Given the description of an element on the screen output the (x, y) to click on. 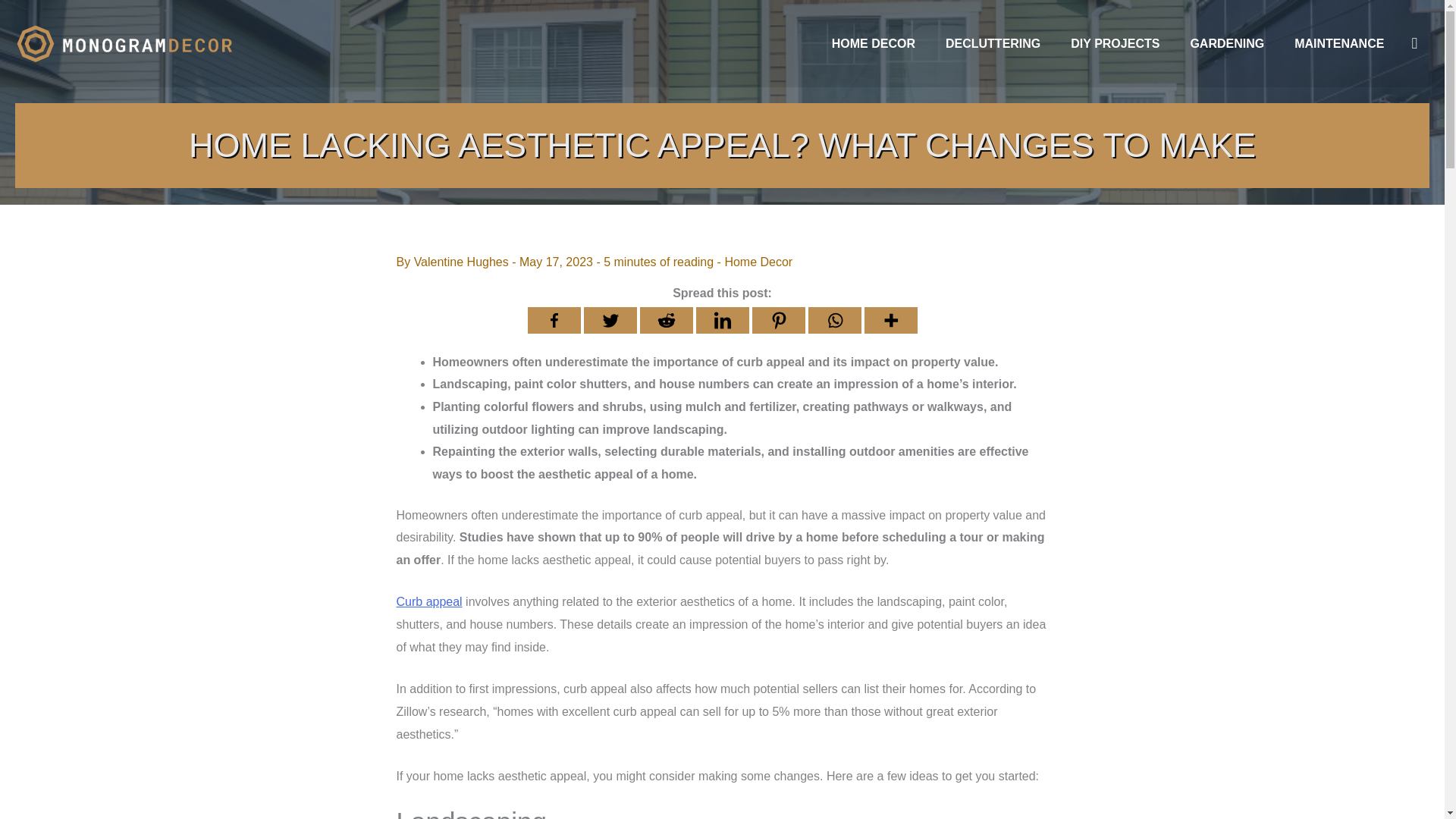
Twitter (610, 320)
GARDENING (1226, 43)
DECLUTTERING (992, 43)
Curb appeal (428, 601)
Facebook (553, 320)
More (890, 320)
HOME DECOR (873, 43)
Valentine Hughes (462, 261)
Home Decor (757, 261)
Reddit (666, 320)
MAINTENANCE (1339, 43)
Linkedin (722, 320)
SEARCH (1413, 43)
Pinterest (778, 320)
Whatsapp (834, 320)
